Given the description of an element on the screen output the (x, y) to click on. 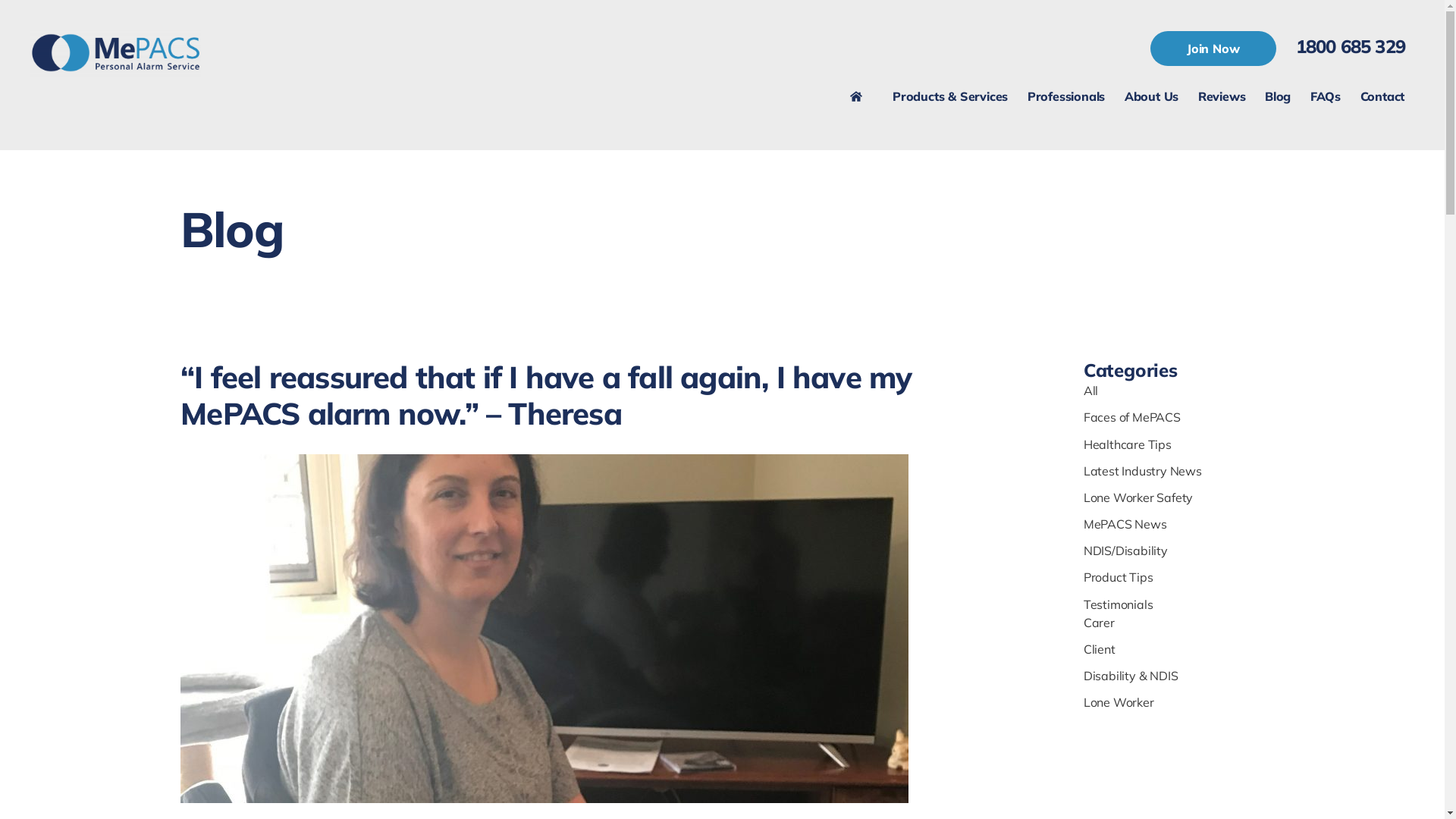
All Element type: text (1090, 390)
Latest Industry News Element type: text (1142, 470)
NDIS/Disability Element type: text (1125, 550)
About Us Element type: text (1151, 95)
Product Tips Element type: text (1118, 576)
Testimonials Element type: text (1118, 603)
Join Now Element type: text (1213, 48)
Contact Element type: text (1382, 95)
Disability & NDIS Element type: text (1130, 675)
Blog Element type: text (1277, 95)
FAQs Element type: text (1325, 100)
Client Element type: text (1099, 648)
Lone Worker Safety Element type: text (1137, 497)
Healthcare Tips Element type: text (1127, 443)
1800 685 329 Element type: text (1350, 45)
Reviews Element type: text (1221, 95)
MePACS News Element type: text (1125, 523)
Faces of MePACS Element type: text (1131, 416)
Products & Services Element type: text (949, 100)
Lone Worker Element type: text (1118, 701)
Professionals Element type: text (1065, 100)
MePACS-hori-col+tag_2023 Element type: hover (115, 52)
Carer Element type: text (1098, 622)
